Given the description of an element on the screen output the (x, y) to click on. 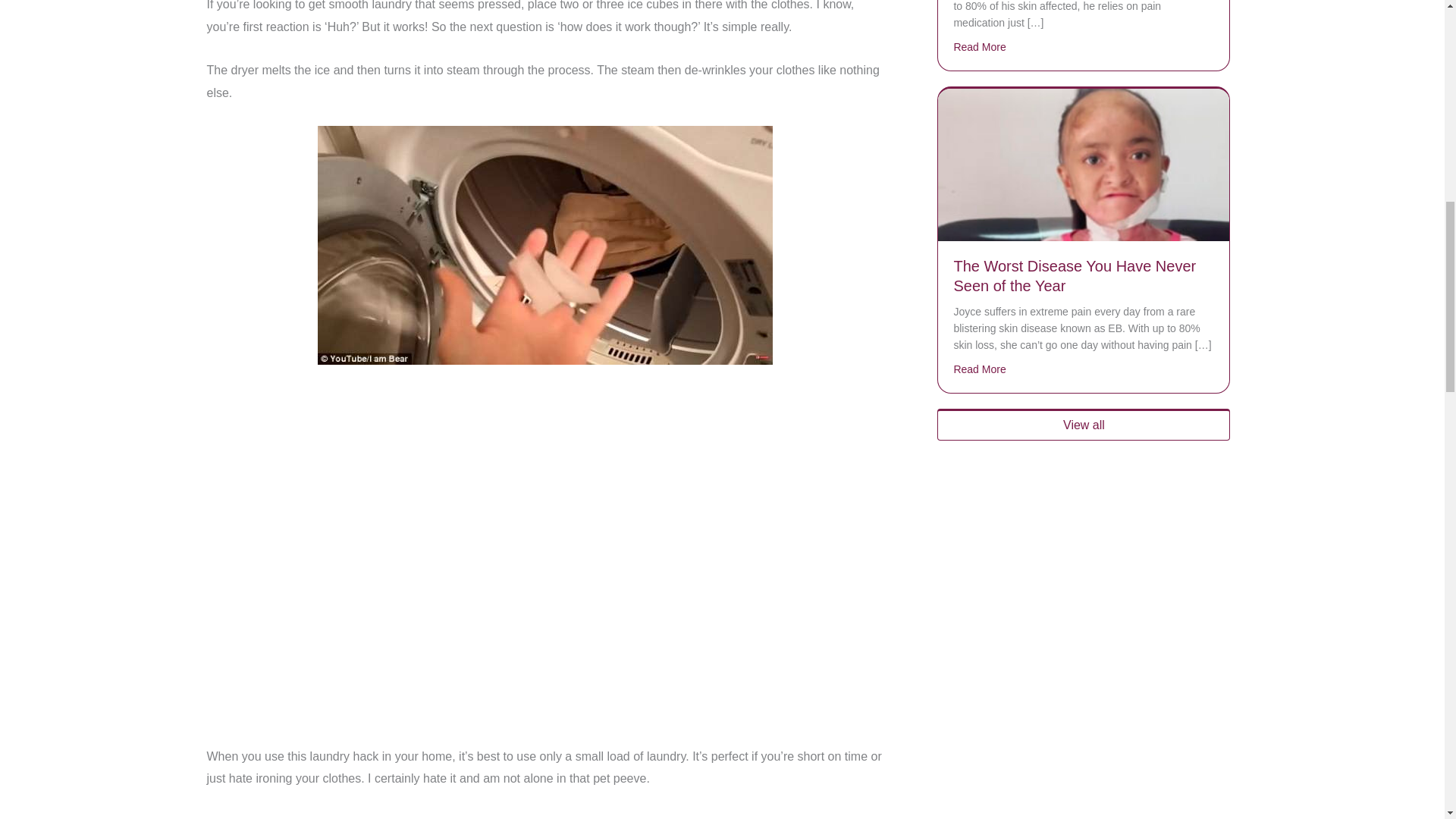
Read More (979, 46)
The Worst Disease You Have Never Seen of the Year (1074, 275)
Read More (979, 369)
View all (1083, 424)
